Given the description of an element on the screen output the (x, y) to click on. 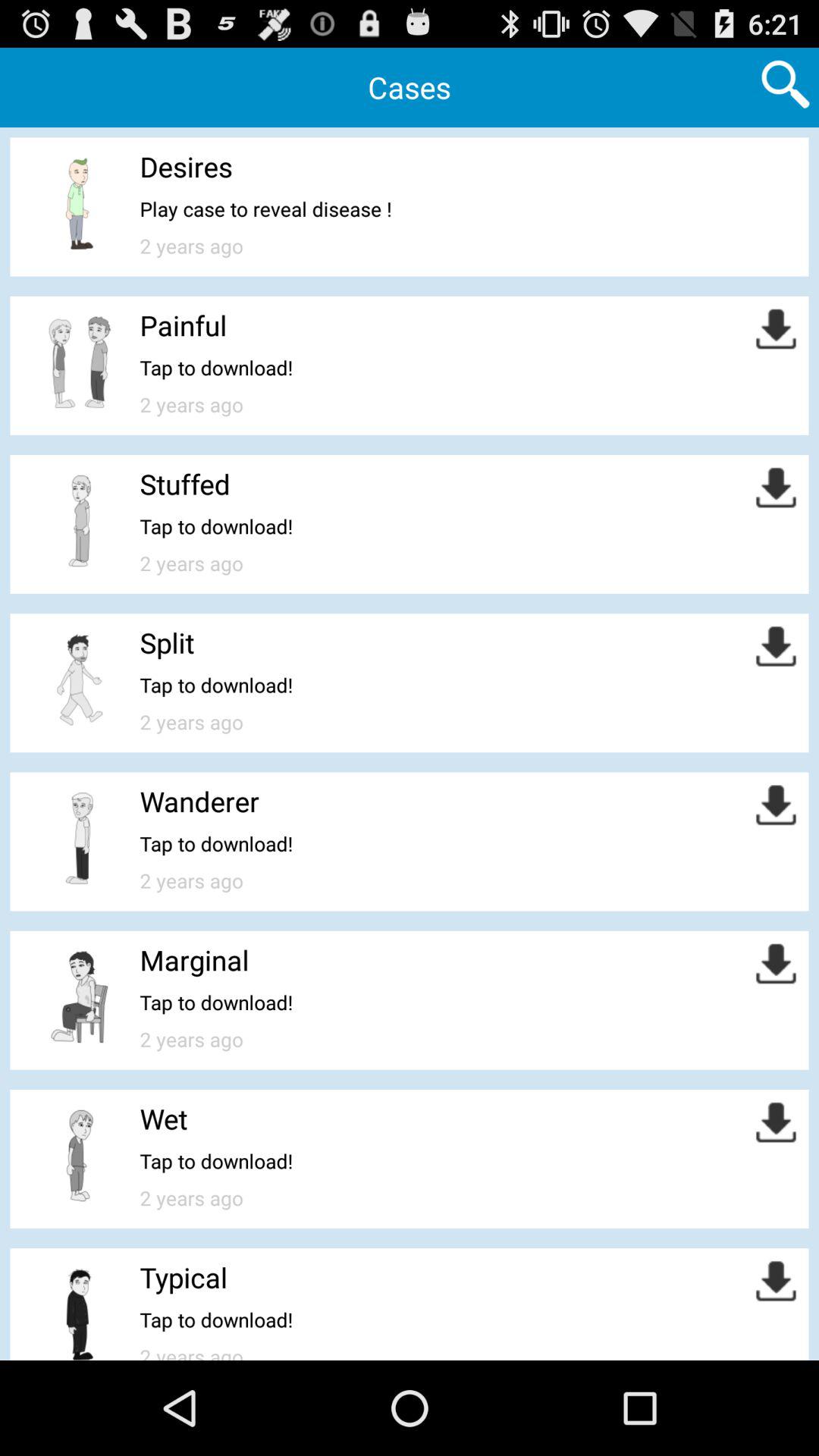
choose typical app (183, 1277)
